Given the description of an element on the screen output the (x, y) to click on. 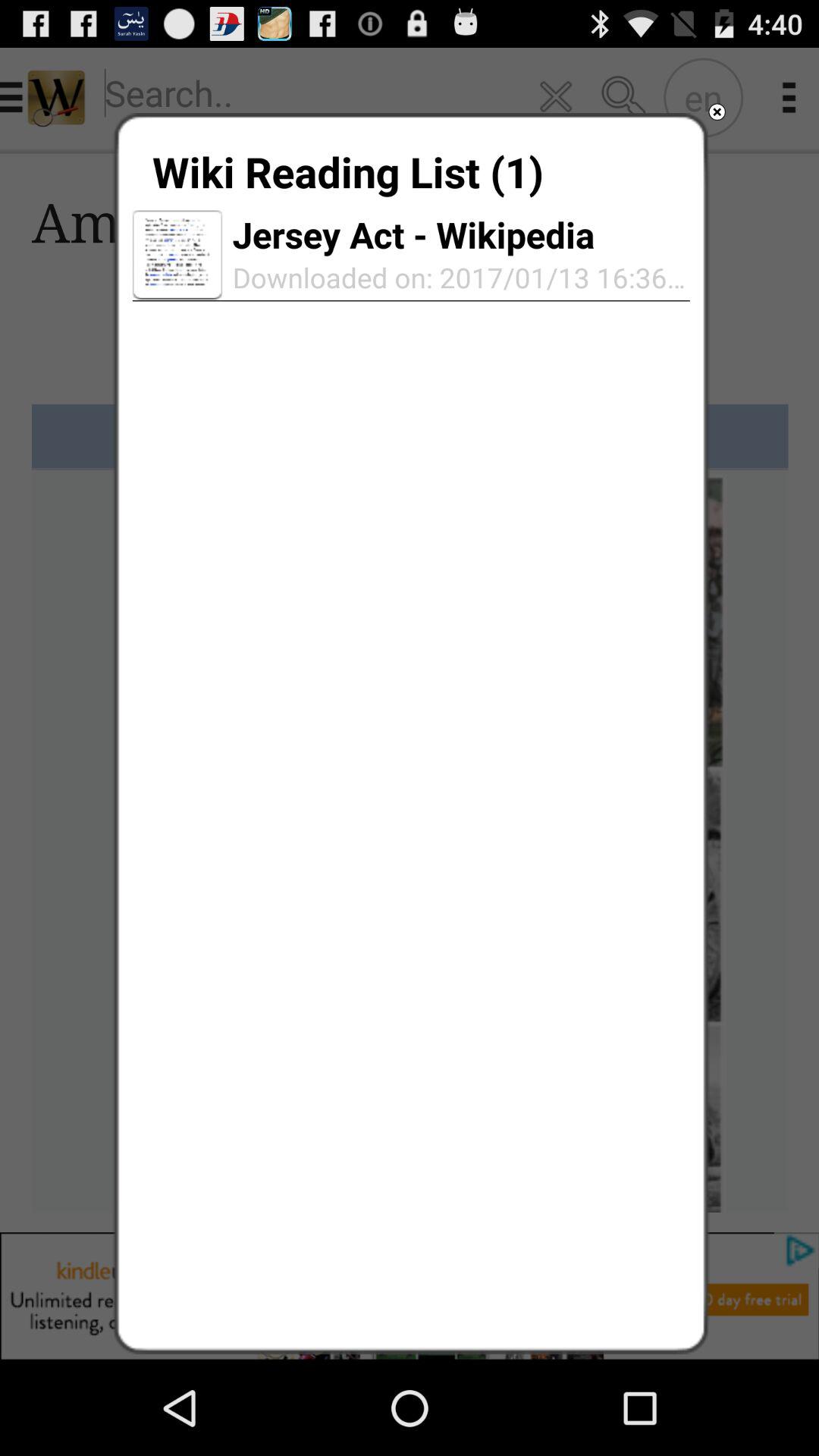
jump to the jersey act - wikipedia (413, 234)
